Given the description of an element on the screen output the (x, y) to click on. 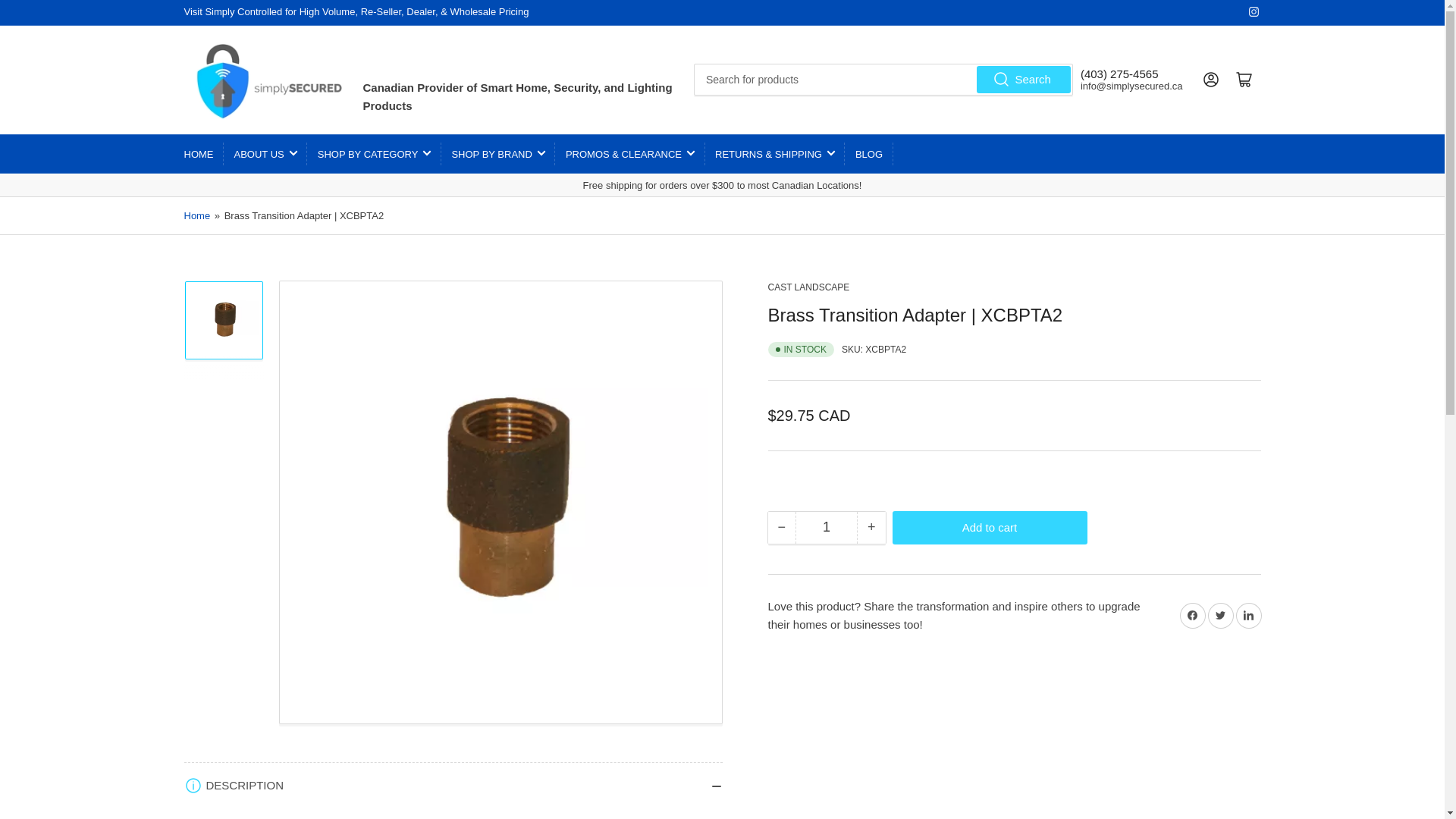
Open mini cart (1243, 79)
Search (1023, 79)
Log in (1210, 79)
1 (825, 527)
Instagram (1253, 11)
